Given the description of an element on the screen output the (x, y) to click on. 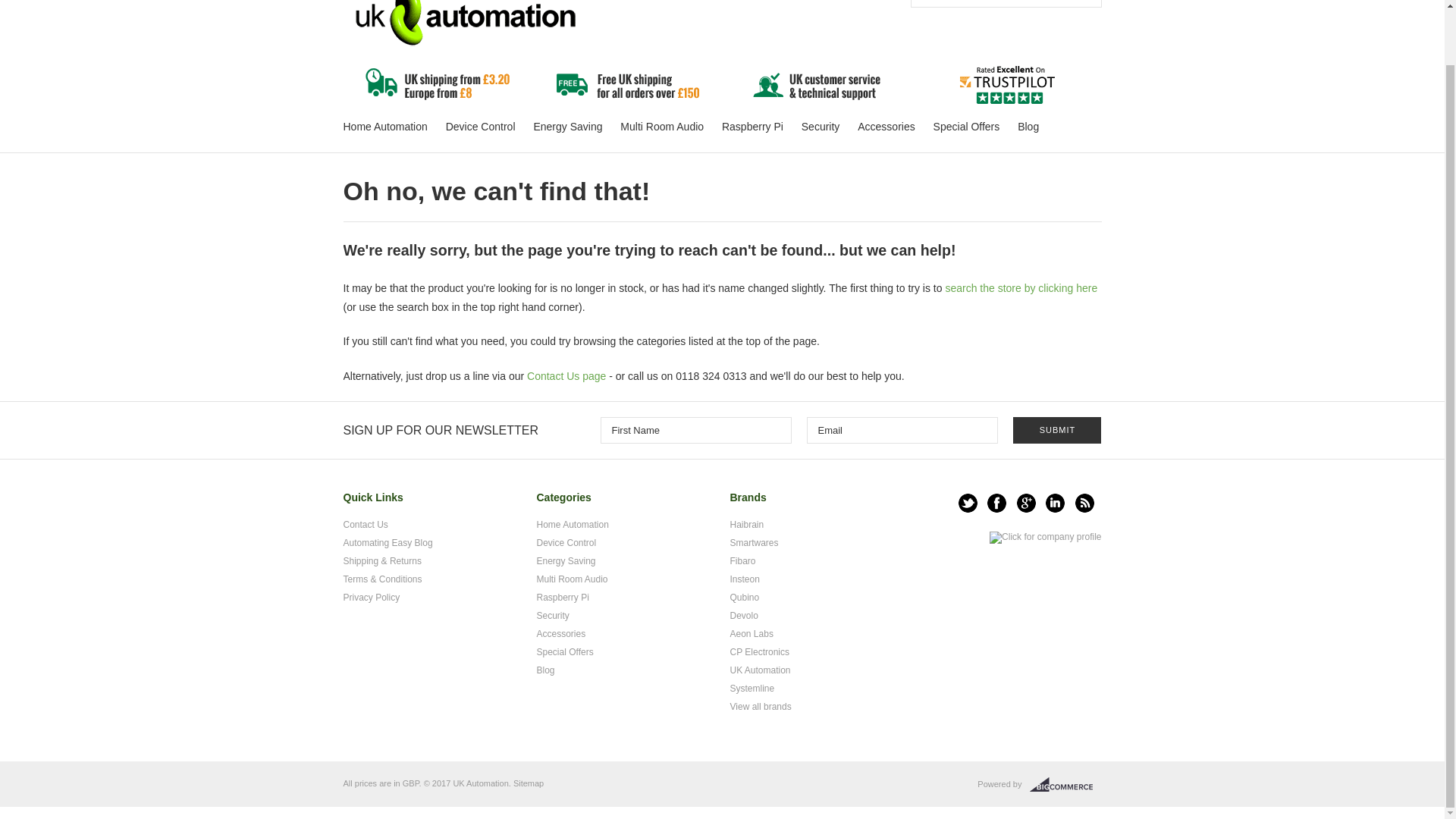
Email (901, 429)
Twitter (967, 502)
Facebook (996, 502)
First Name (695, 429)
RSS (1084, 502)
Submit (1056, 429)
Search (1081, 3)
LinkedIn (1054, 502)
British Pounds (411, 782)
GooglePlus (1025, 502)
